Given the description of an element on the screen output the (x, y) to click on. 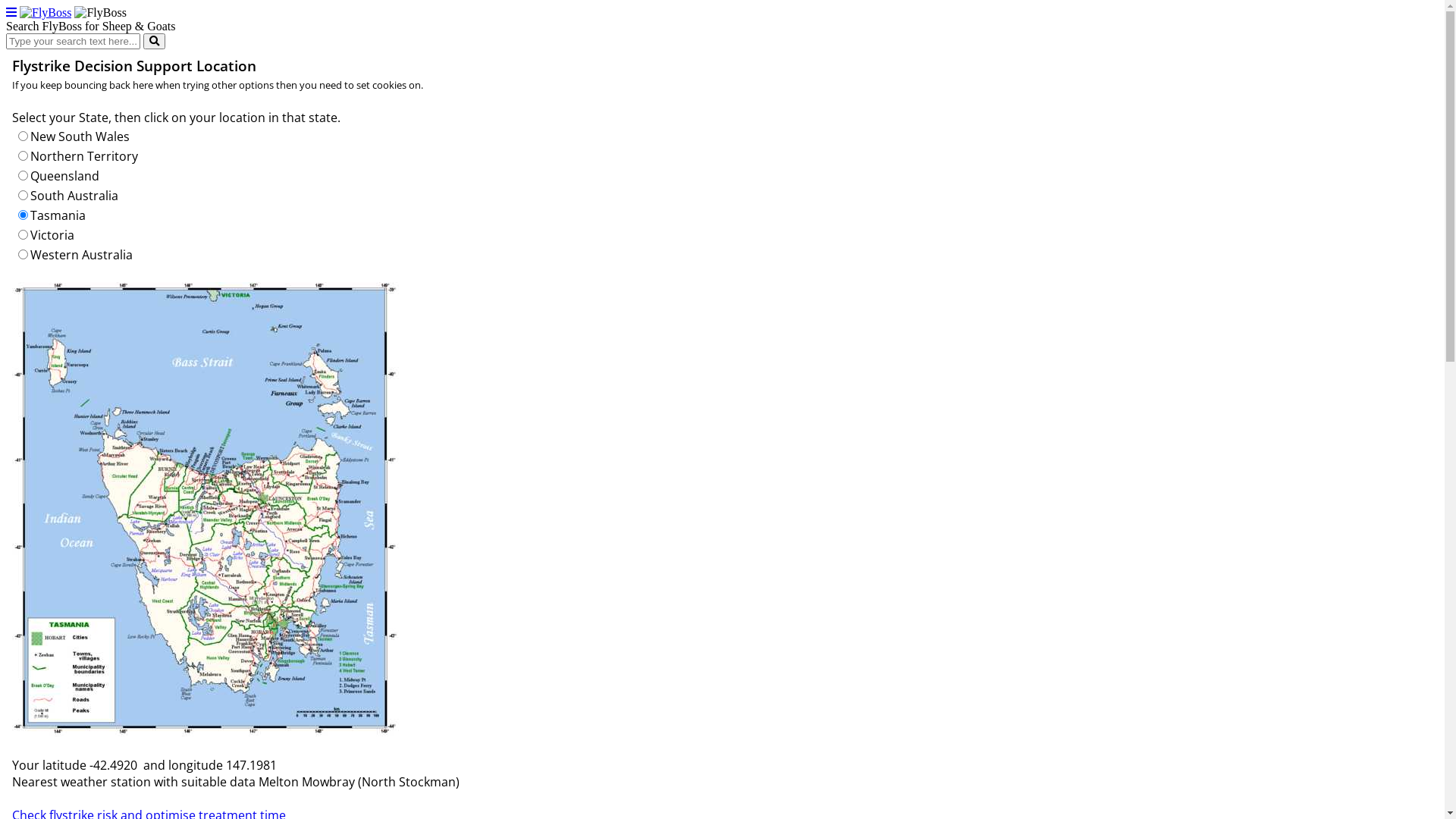
Search The FlyBoss Website Element type: hover (154, 41)
search Element type: text (154, 41)
